Given the description of an element on the screen output the (x, y) to click on. 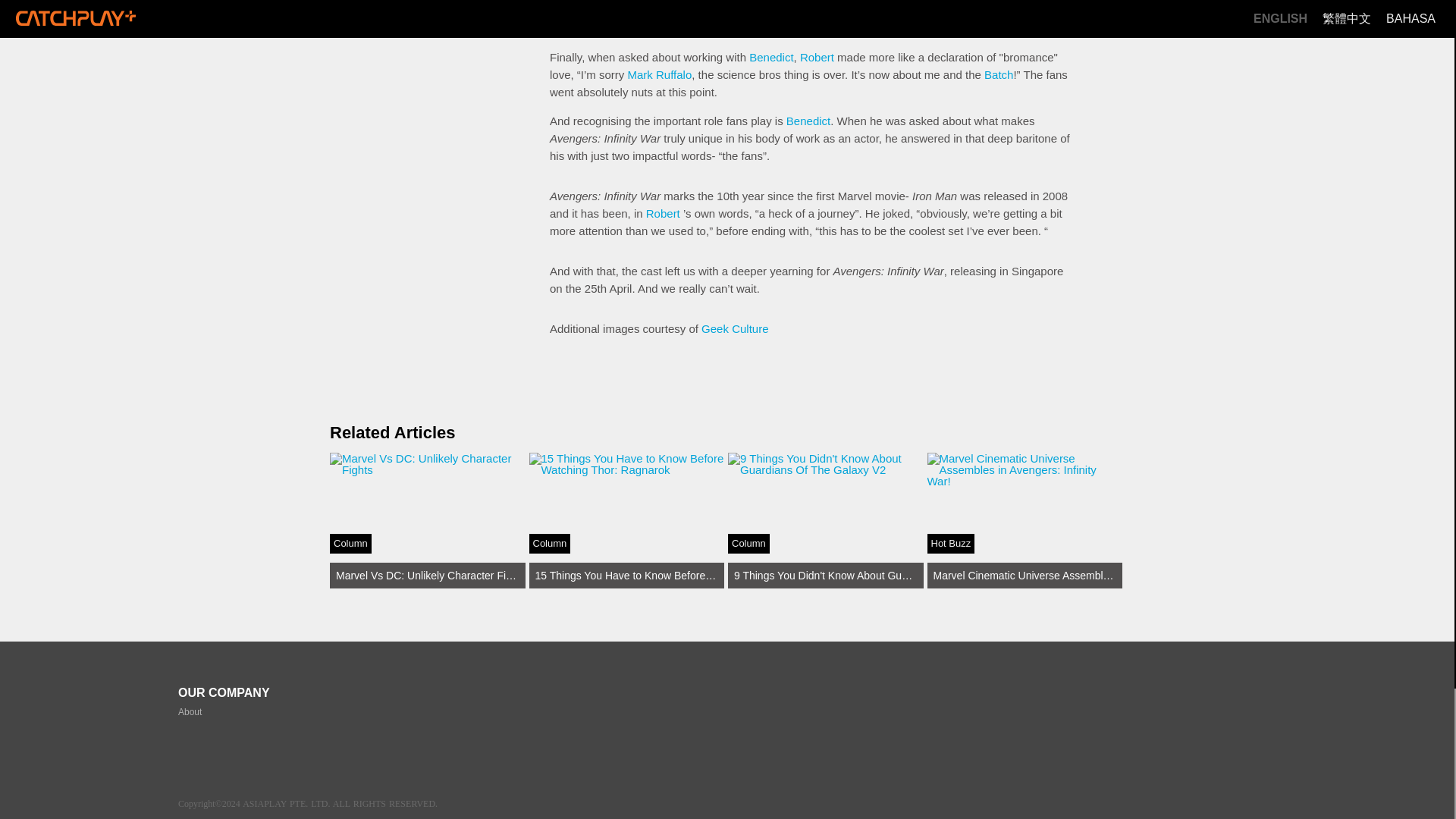
Robert (816, 56)
Benedict (771, 56)
Benedict (807, 120)
About (189, 711)
Mark Ruffalo (660, 74)
Geek Culture (734, 328)
Robert (662, 213)
